Given the description of an element on the screen output the (x, y) to click on. 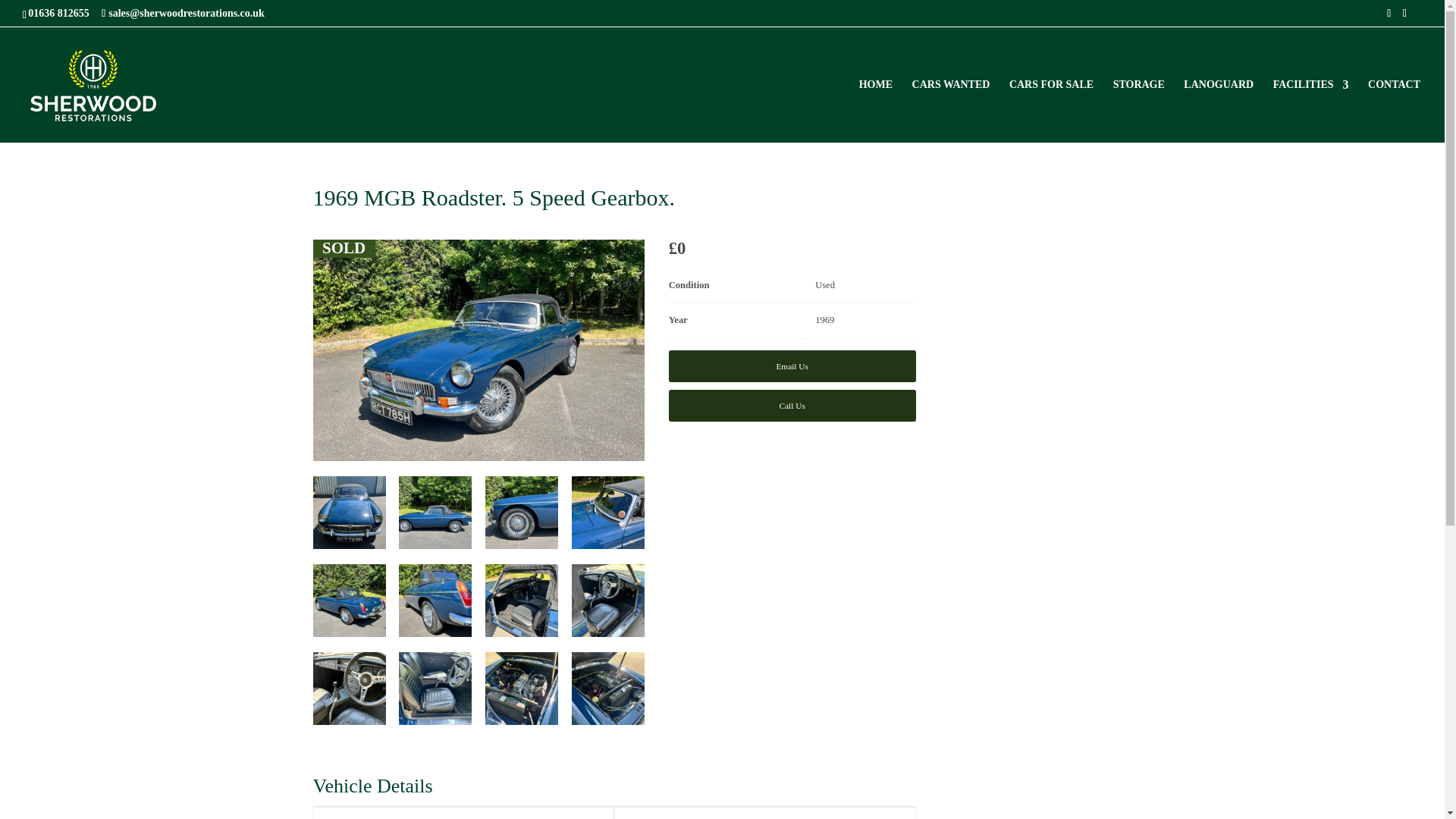
Email Us (791, 366)
LANOGUARD (1218, 110)
CARS WANTED (951, 110)
CARS FOR SALE (1051, 110)
01636 812655 (62, 12)
FACILITIES (1310, 110)
Call Us (791, 405)
